Given the description of an element on the screen output the (x, y) to click on. 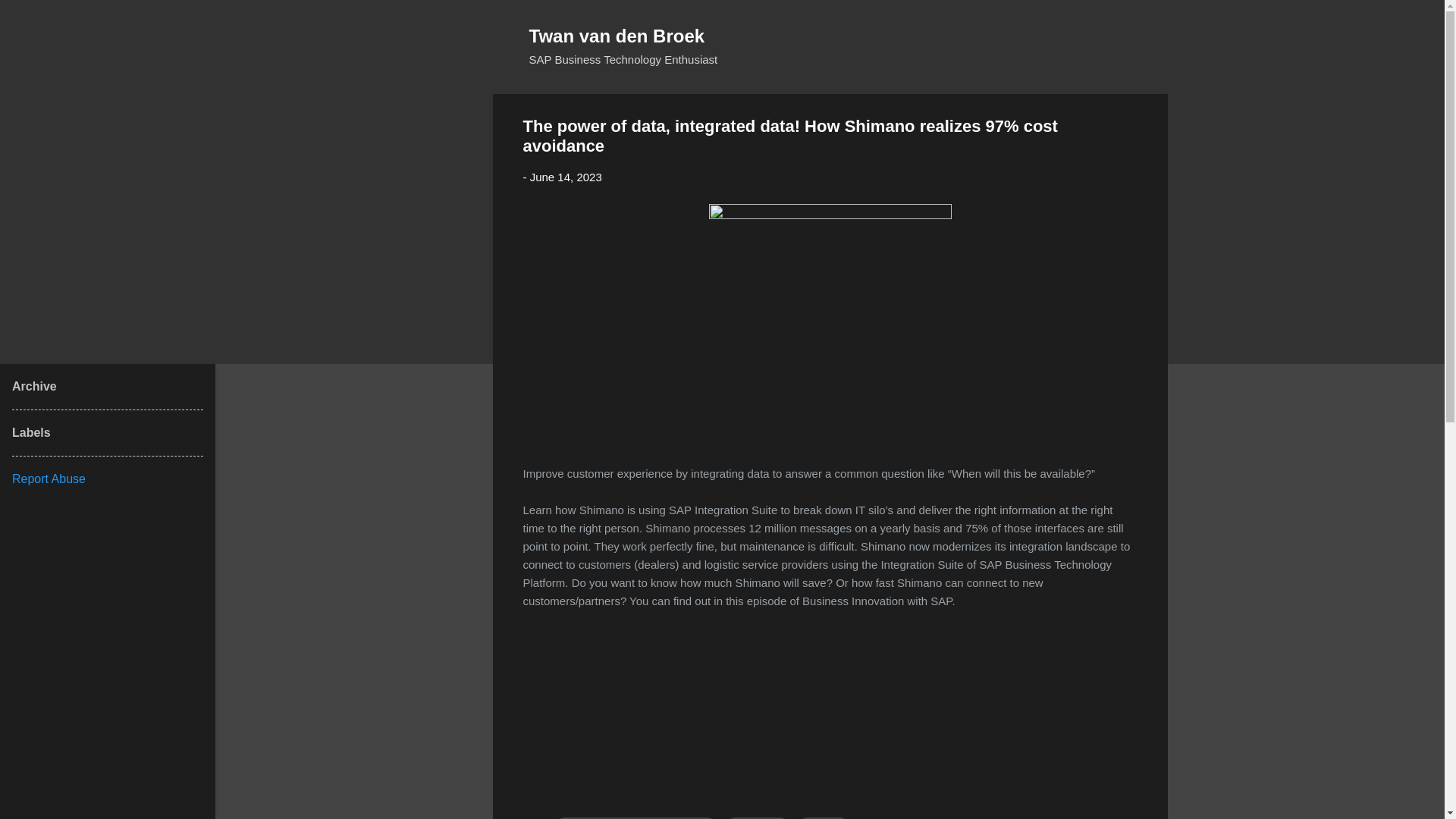
podcast (823, 818)
permanent link (565, 176)
Twan van den Broek (616, 35)
Search (29, 18)
June 14, 2023 (565, 176)
integration (756, 818)
